Given the description of an element on the screen output the (x, y) to click on. 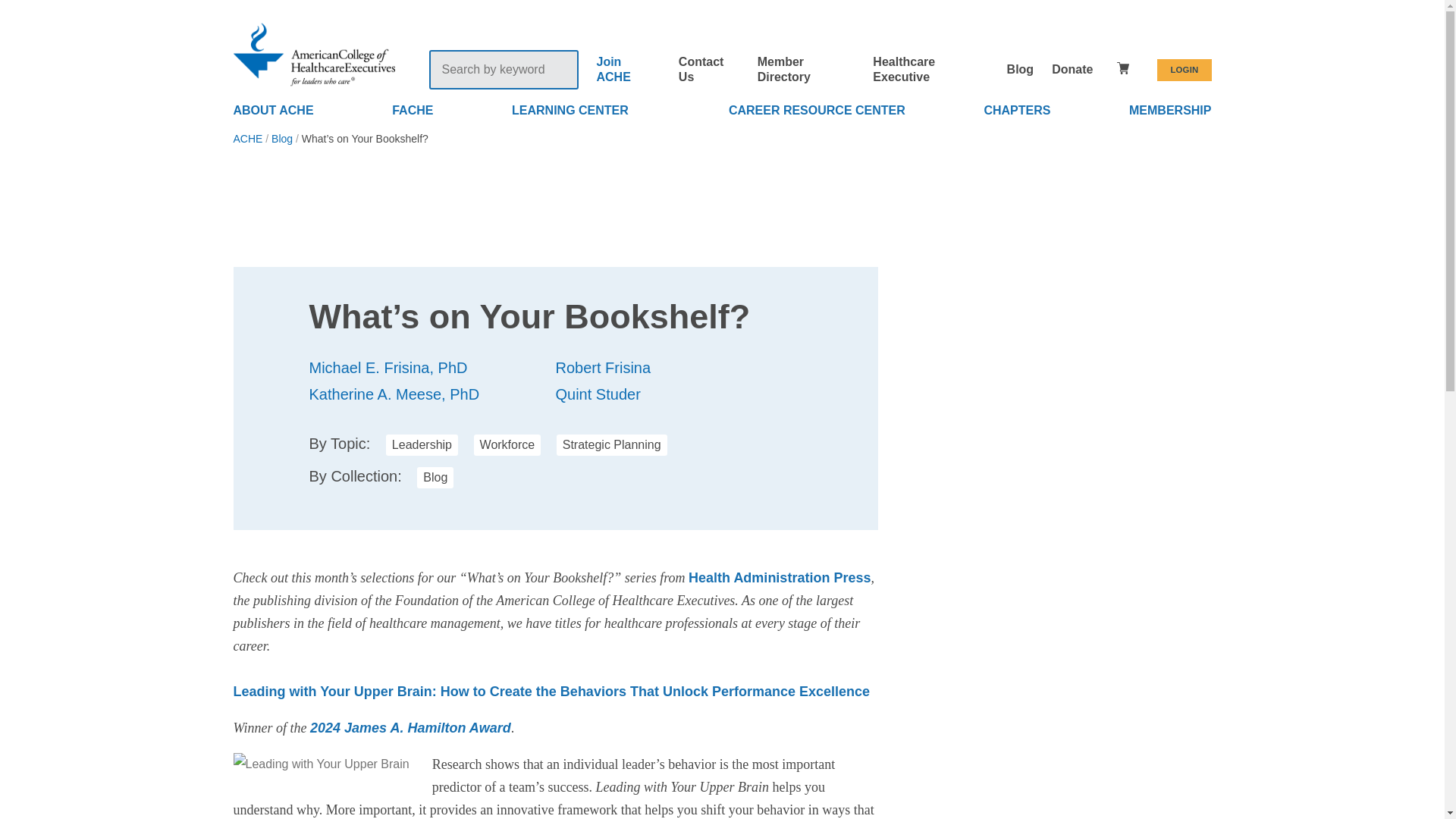
magnifying glass icon (559, 68)
Join ACHE (612, 69)
FACHE (411, 110)
Contact Us (700, 69)
LOGIN (1184, 69)
Donate (1072, 69)
Member Directory (783, 69)
LEARNING CENTER (570, 110)
ABOUT ACHE (273, 110)
Blog (1020, 69)
